Given the description of an element on the screen output the (x, y) to click on. 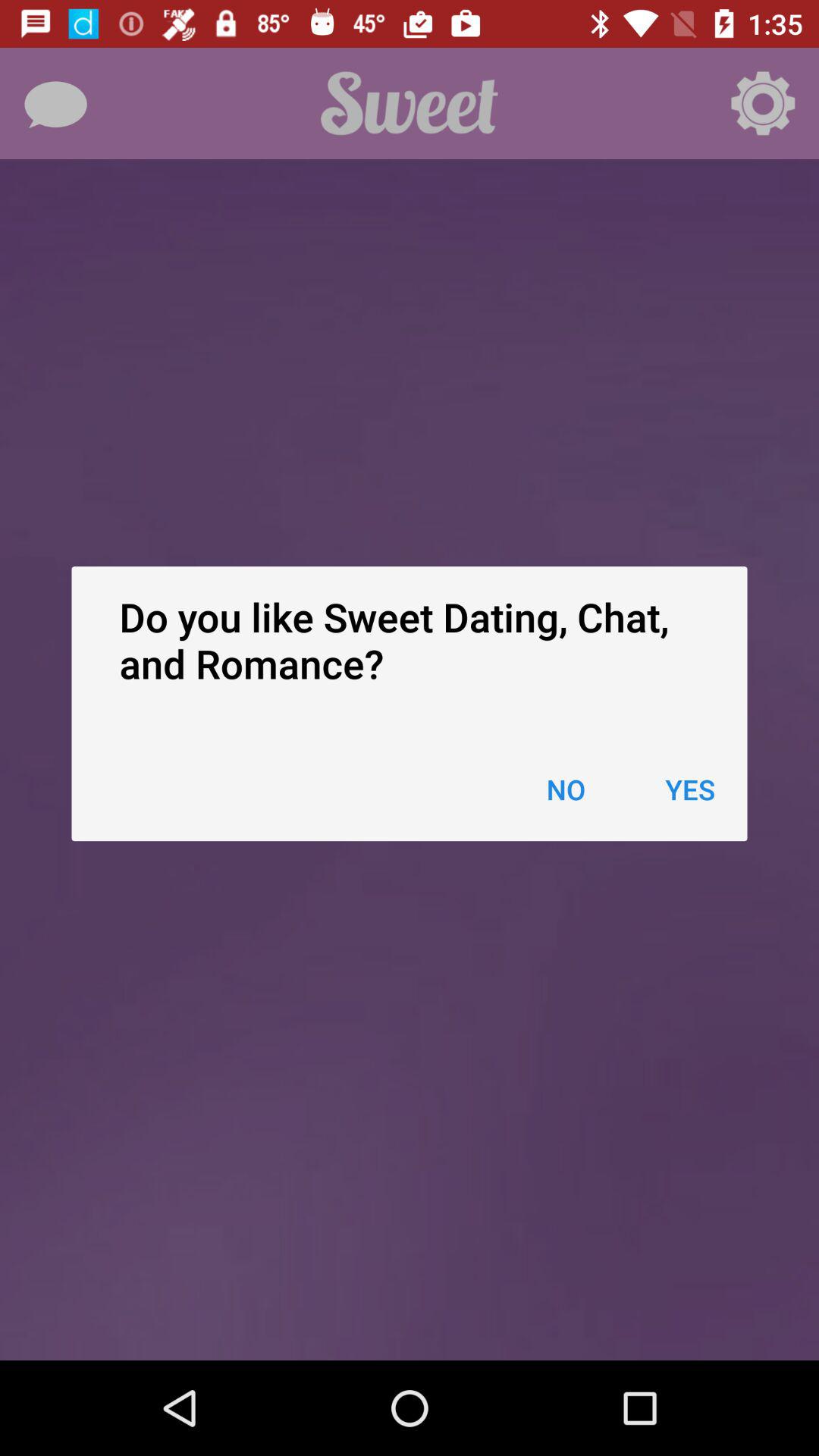
turn off item below do you like icon (690, 789)
